Given the description of an element on the screen output the (x, y) to click on. 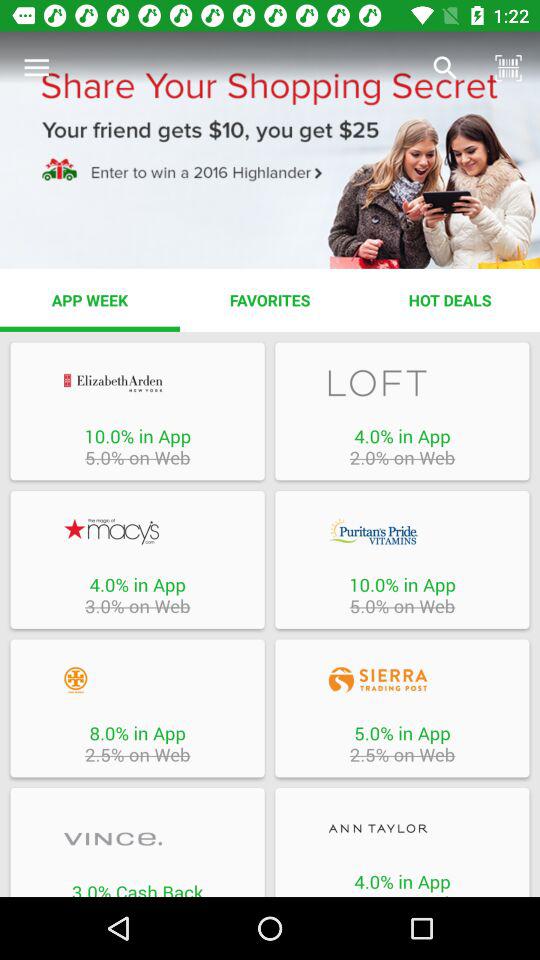
choose offer (137, 382)
